Given the description of an element on the screen output the (x, y) to click on. 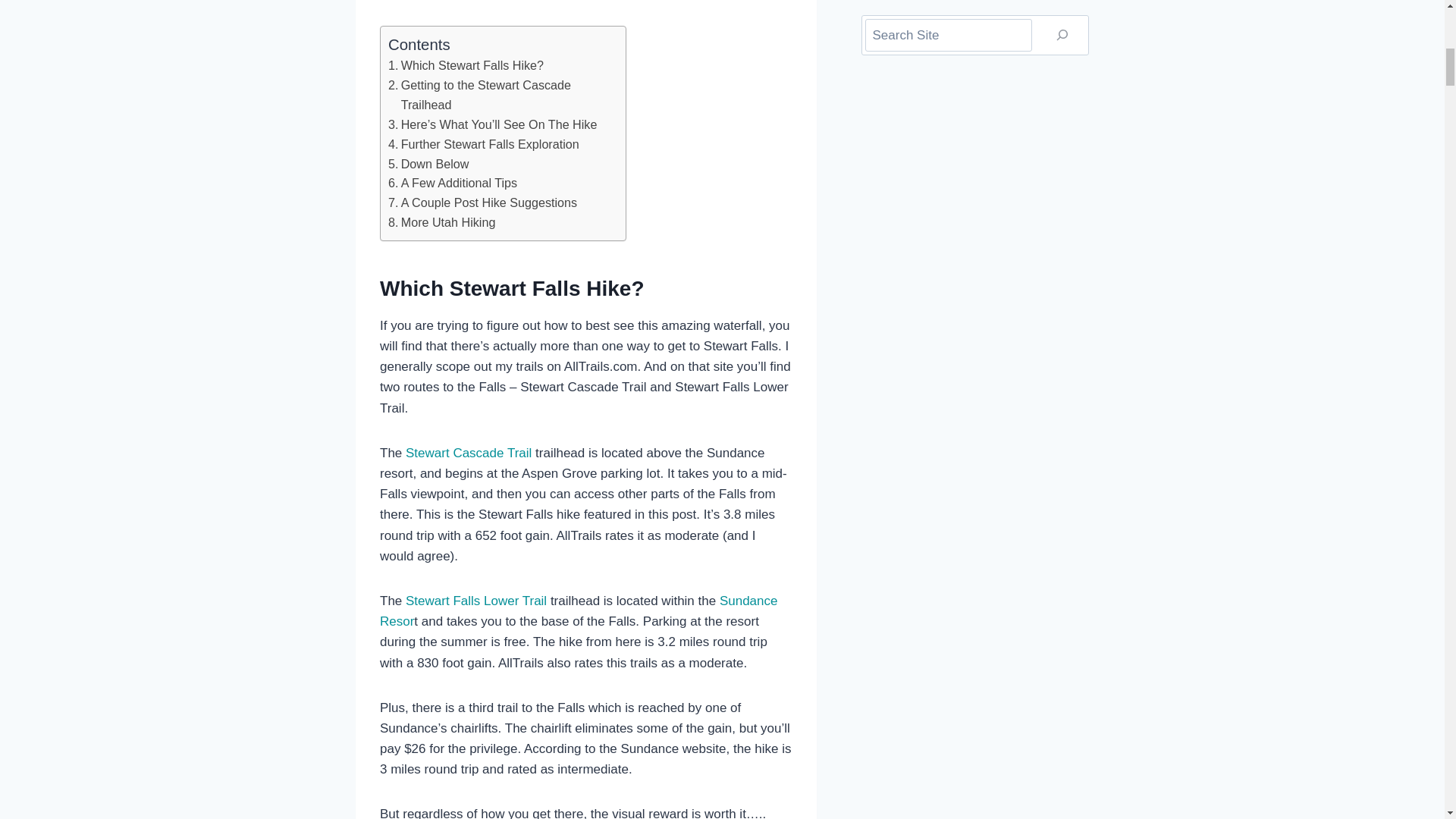
Further Stewart Falls Exploration (483, 144)
Which Stewart Falls Hike? (465, 66)
A Couple Post Hike Suggestions (482, 202)
More Utah Hiking (441, 222)
A Few Additional Tips (452, 183)
A Couple Post Hike Suggestions (482, 202)
Getting to the Stewart Cascade Trailhead (499, 95)
Getting to the Stewart Cascade Trailhead (499, 95)
Down Below (428, 164)
A Few Additional Tips (452, 183)
